Given the description of an element on the screen output the (x, y) to click on. 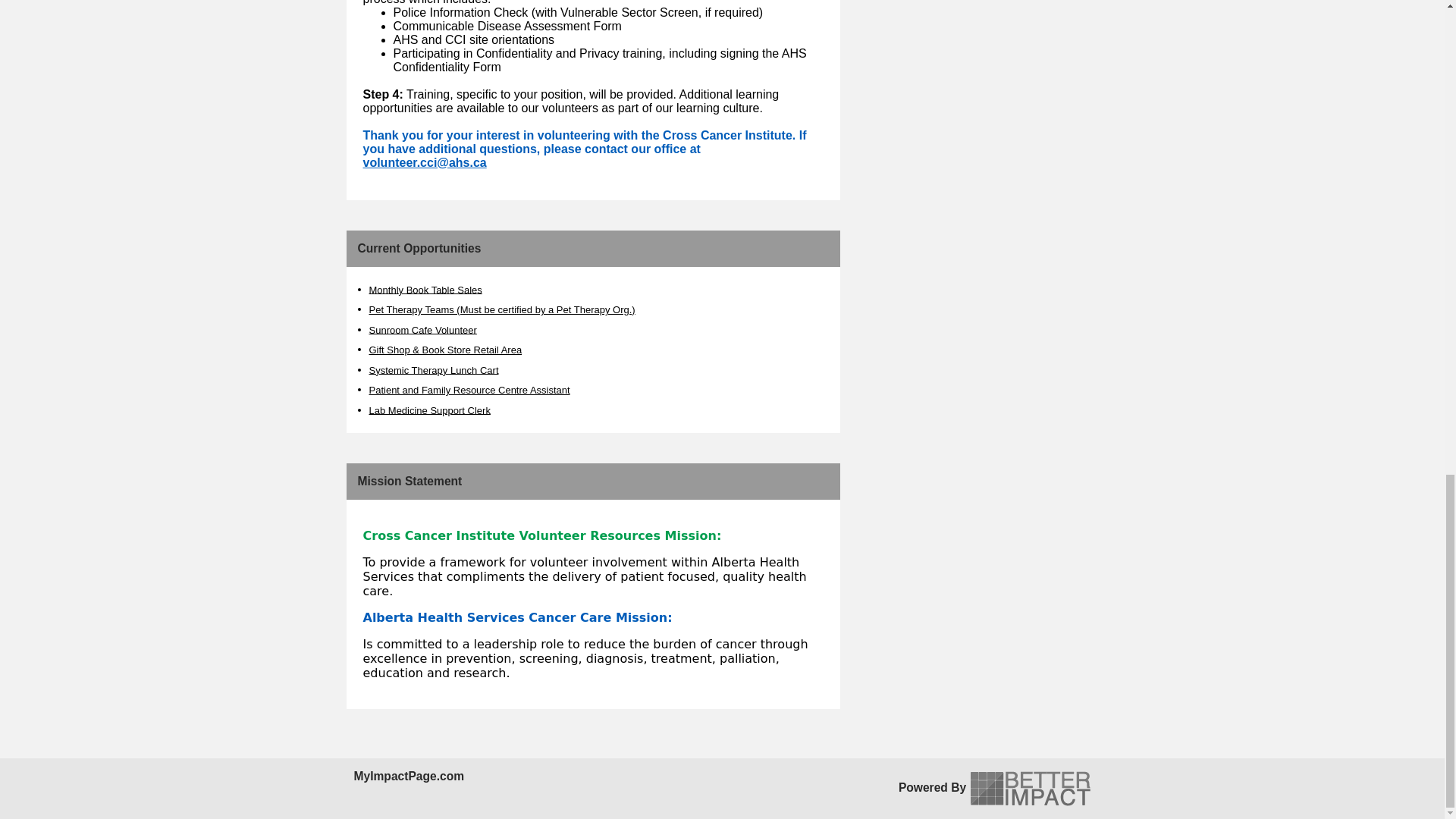
Lab Medicine Support Clerk (428, 409)
Description for Patient and Family Resource Centre Assistant (578, 387)
Monthly Book Table Sales (424, 288)
Description for Systemic Therapy Lunch Cart (506, 367)
Description for Sunroom Cafe Volunteer (485, 327)
Description for Lab Medicine Support Clerk (499, 408)
Patient and Family Resource Centre Assistant (468, 389)
Sunroom Cafe Volunteer (422, 328)
Systemic Therapy Lunch Cart (432, 369)
Description for Monthly Book Table Sales (490, 286)
